Given the description of an element on the screen output the (x, y) to click on. 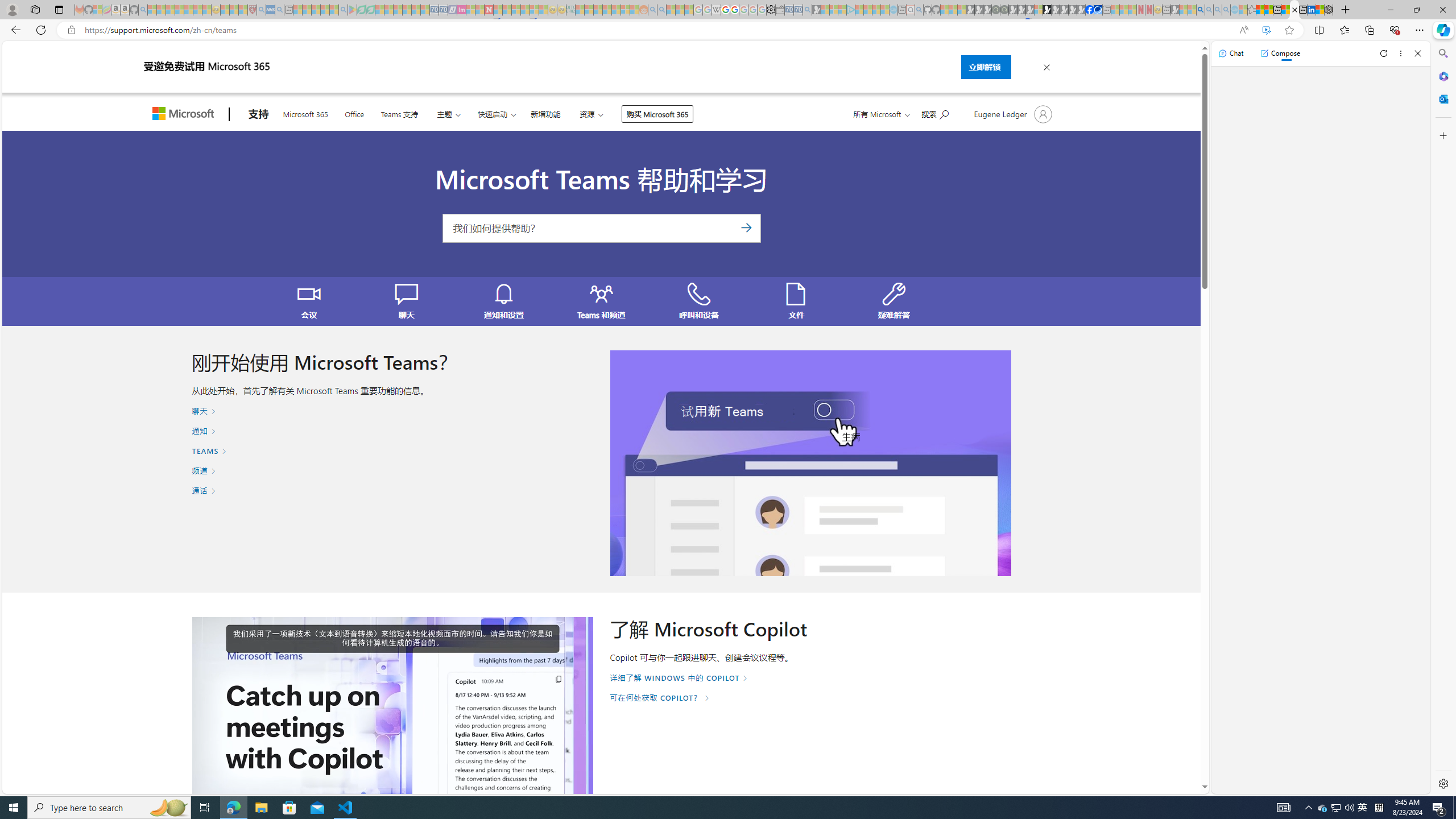
Personal Profile (12, 9)
New Tab (1346, 9)
Chat (1230, 52)
Copilot (Ctrl+Shift+.) (1442, 29)
Microsoft 365 (304, 112)
Close Outlook pane (1442, 98)
Expert Portfolios - Sleeping (606, 9)
NCL Adult Asthma Inhaler Choice Guideline - Sleeping (269, 9)
